Given the description of an element on the screen output the (x, y) to click on. 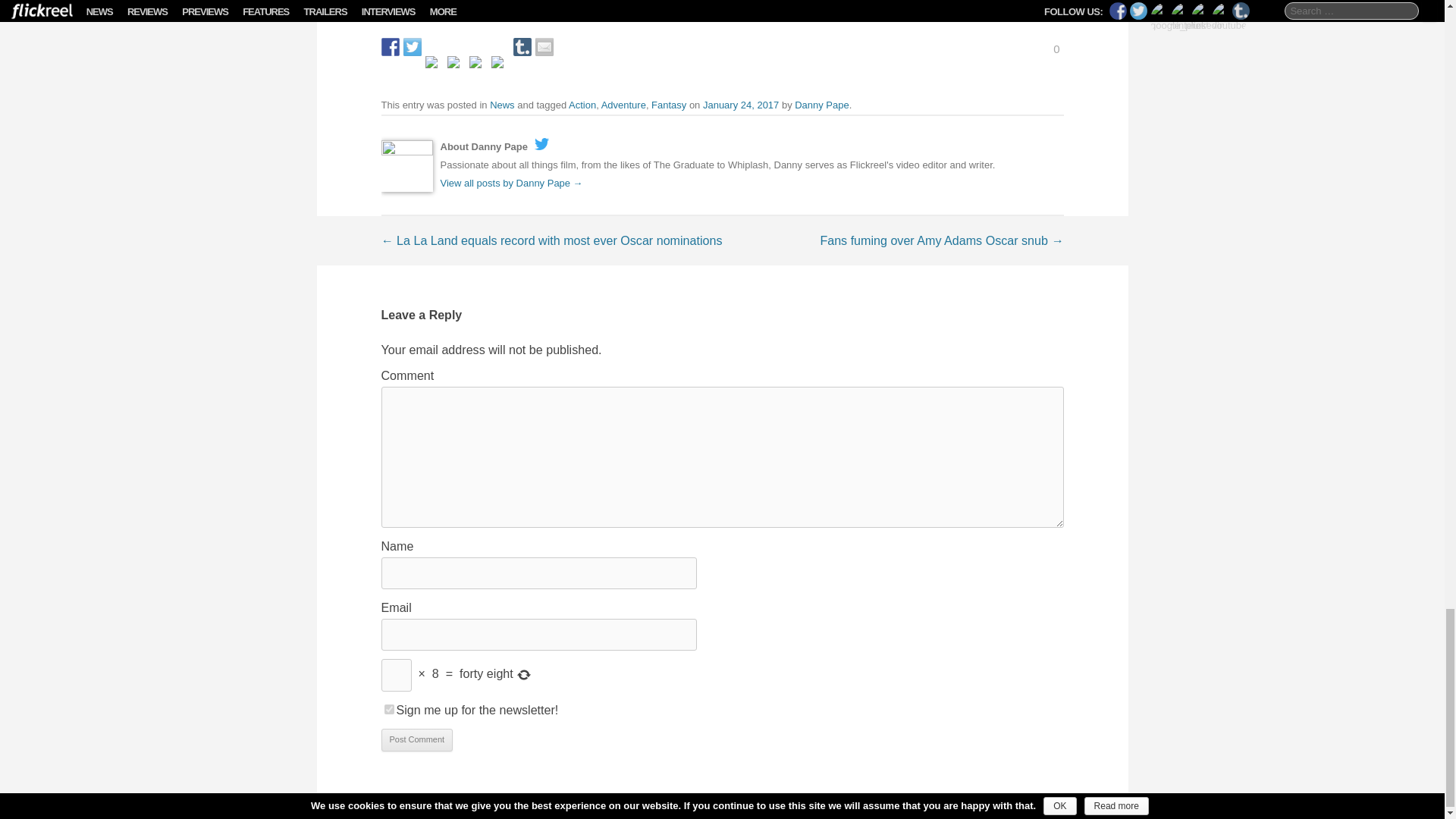
Post Comment (416, 739)
1 (388, 709)
